Given the description of an element on the screen output the (x, y) to click on. 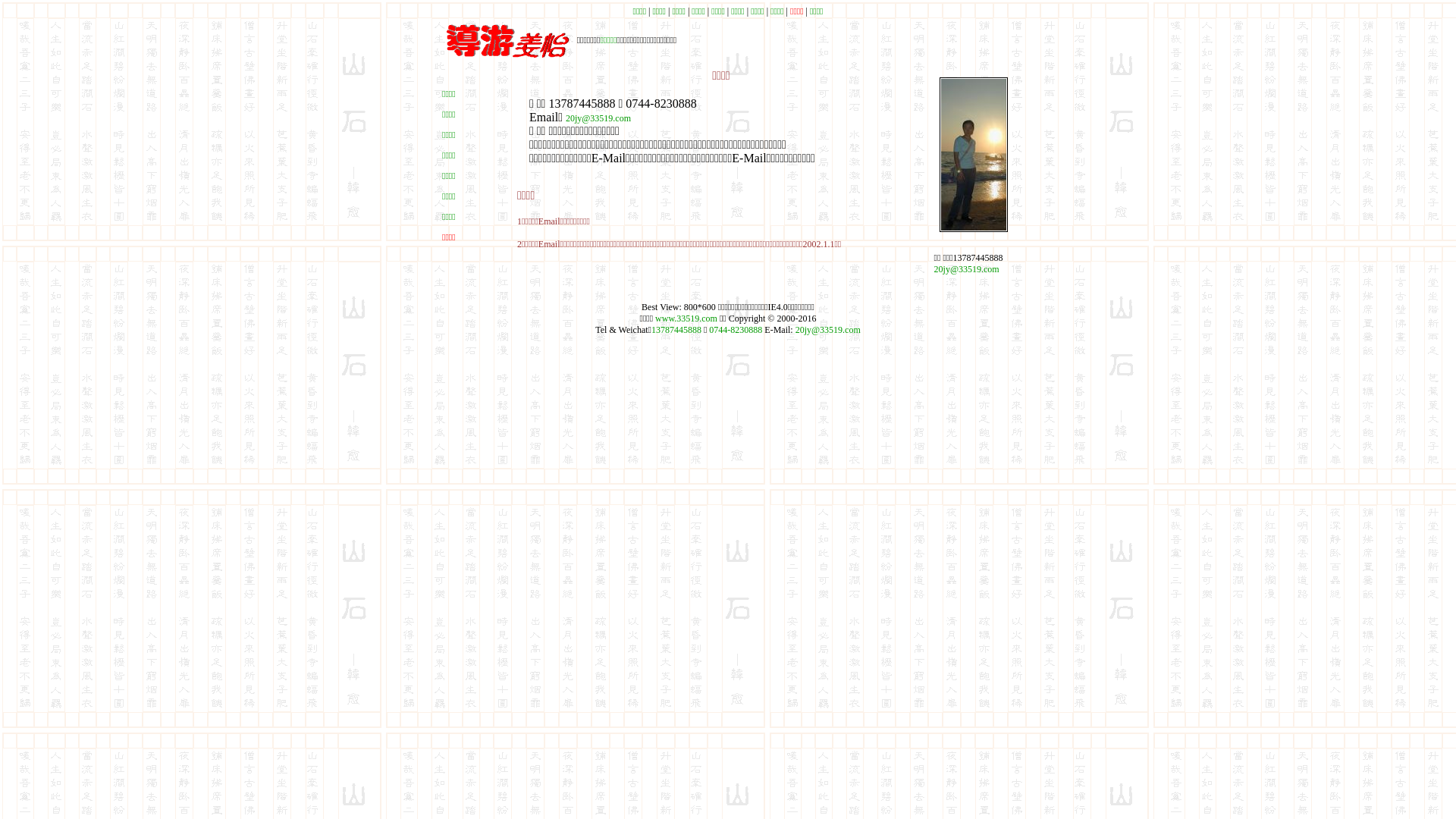
20jy@33519.com Element type: text (597, 117)
20jy@33519.com Element type: text (827, 329)
www.33519.com Element type: text (686, 317)
20jy@33519.com Element type: text (966, 268)
